Given the description of an element on the screen output the (x, y) to click on. 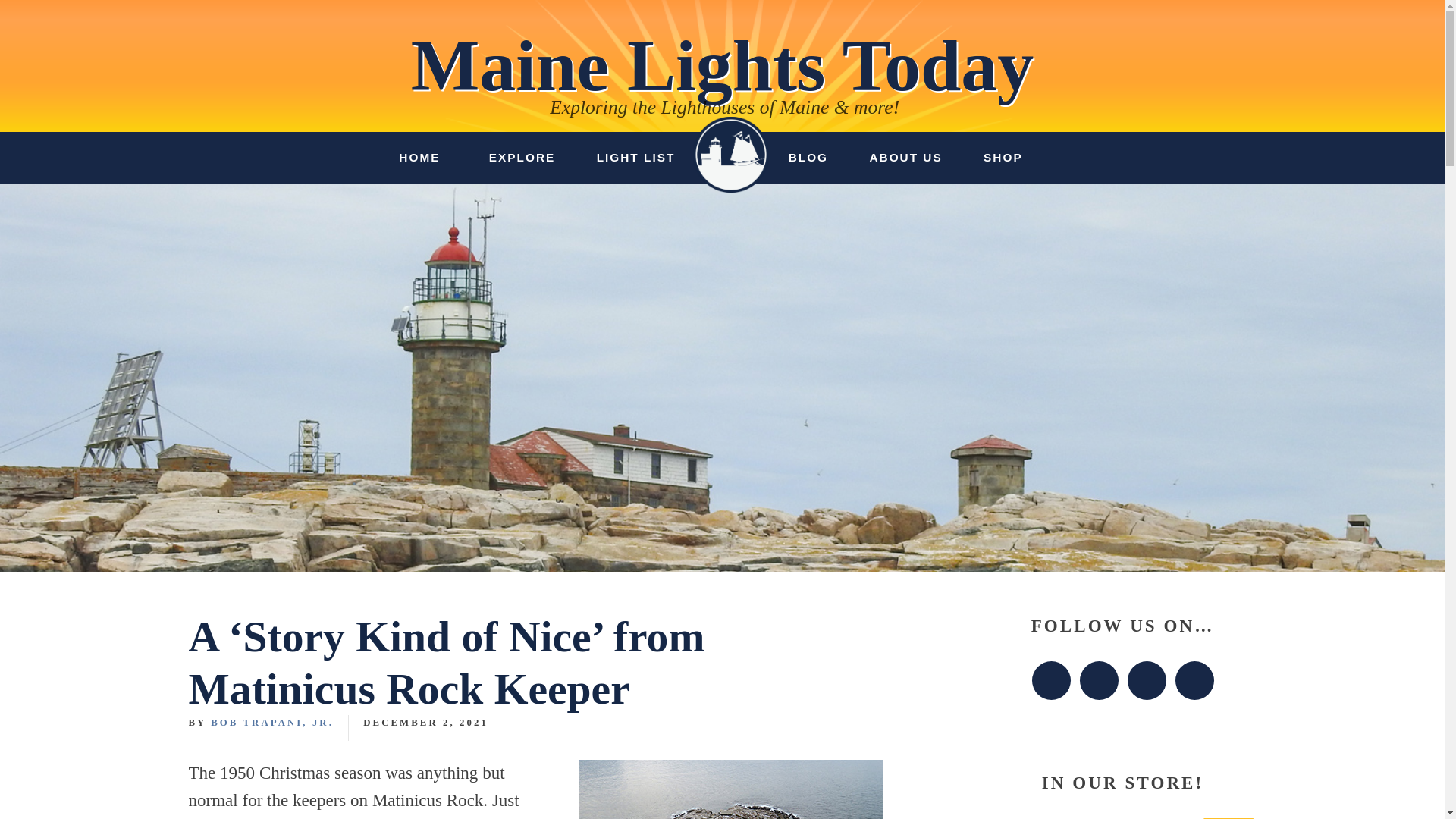
BOB TRAPANI, JR. (272, 722)
Maine Lights Today (721, 65)
ABOUT US (904, 157)
HOME (419, 157)
BLOG (807, 157)
LIGHT LIST (636, 157)
EXPLORE (521, 157)
SHOP (1003, 157)
